Given the description of an element on the screen output the (x, y) to click on. 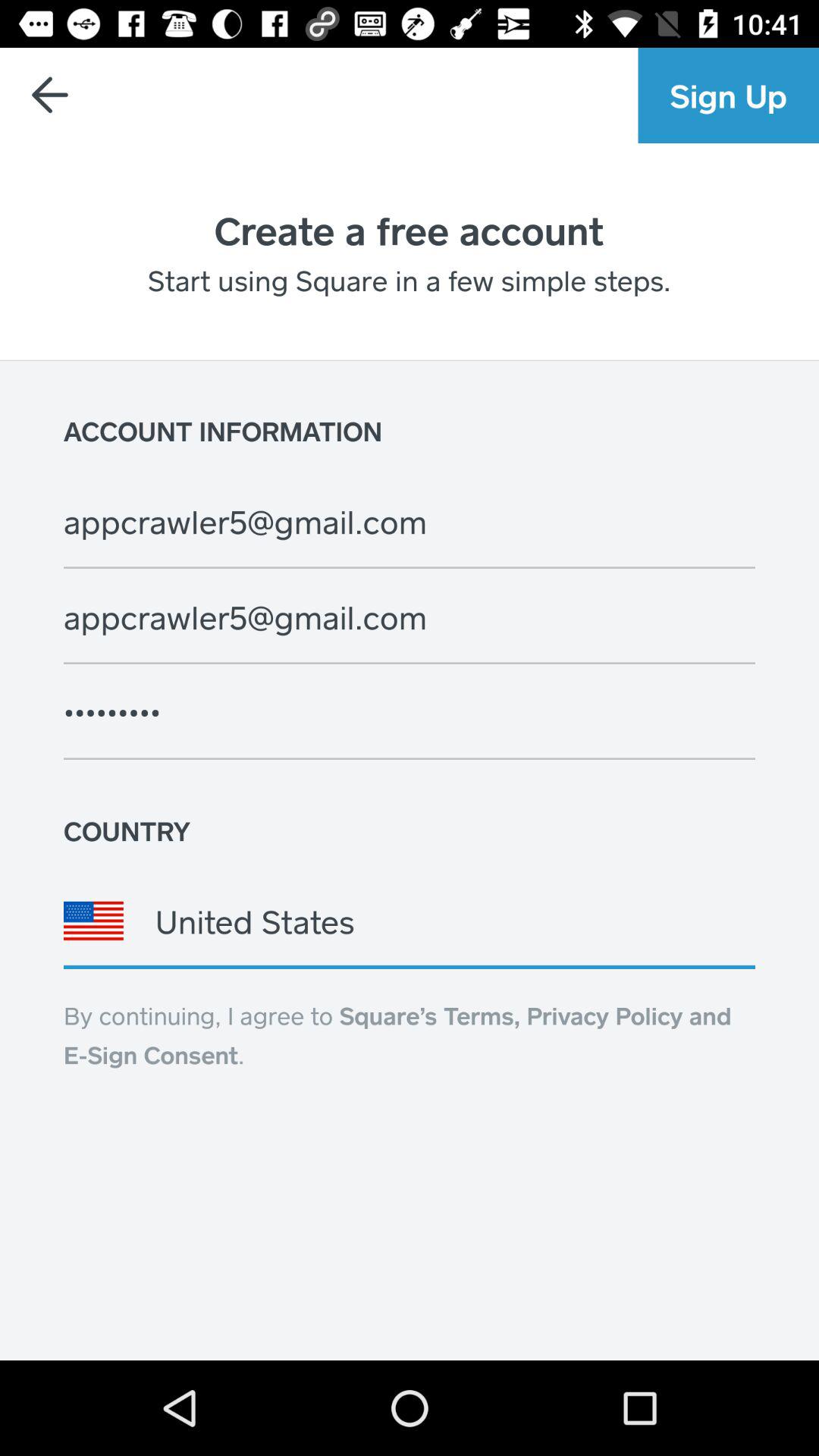
turn off the icon above the by continuing i item (409, 921)
